Given the description of an element on the screen output the (x, y) to click on. 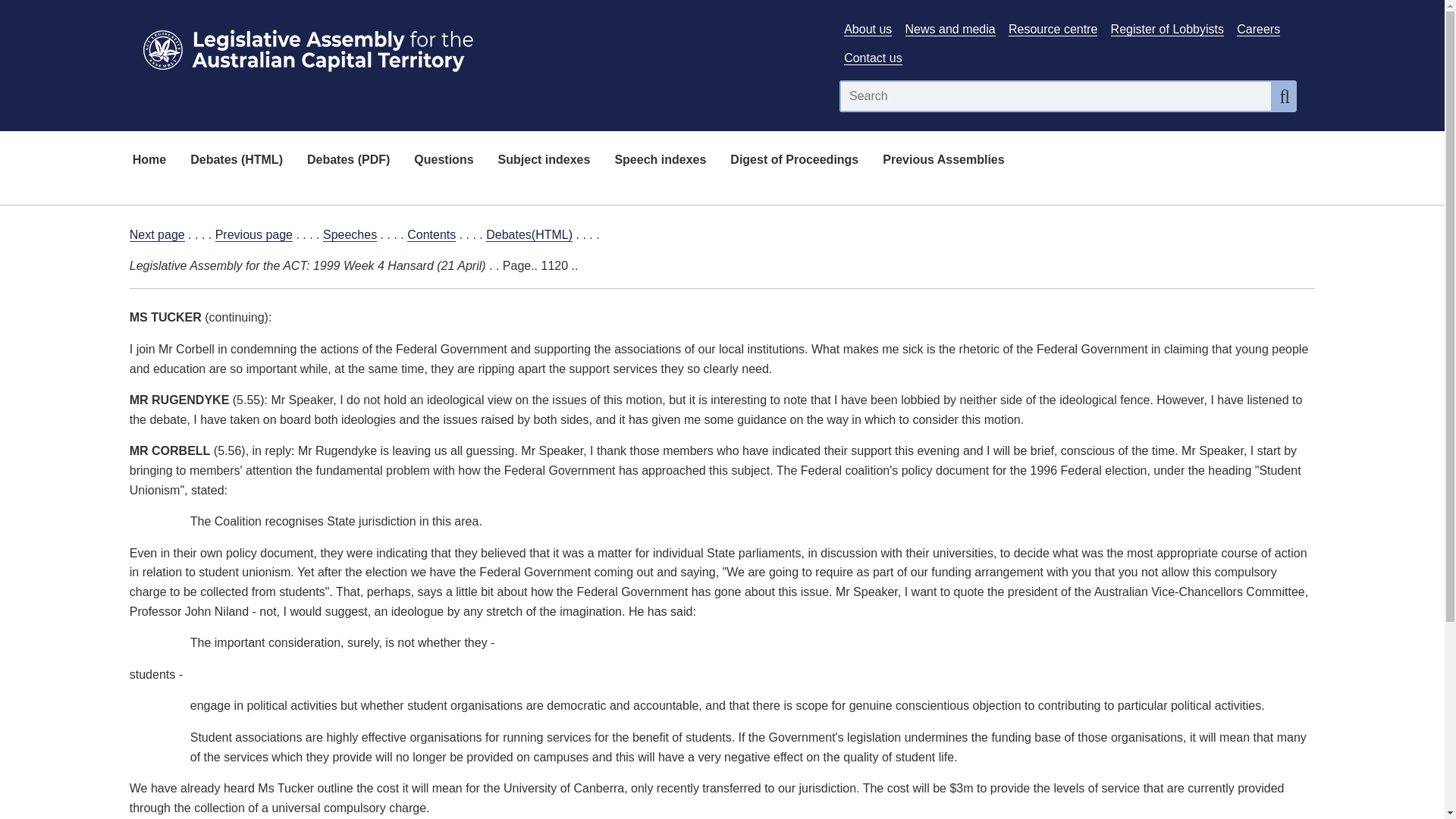
Link to Register of Lobbyists (1167, 29)
Register of Lobbyists (1167, 29)
News and media (950, 29)
Subject indexes (544, 160)
Link to News and media (950, 29)
Contents (431, 234)
Speech indexes (659, 160)
Previous page (253, 234)
Home (148, 160)
Link to Contact Us (872, 58)
